Given the description of an element on the screen output the (x, y) to click on. 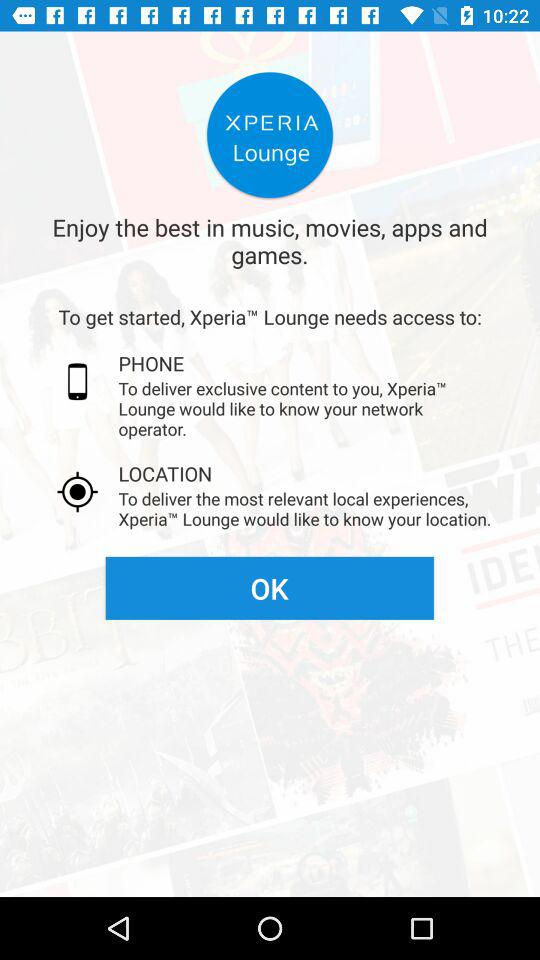
scroll until the ok item (269, 587)
